Given the description of an element on the screen output the (x, y) to click on. 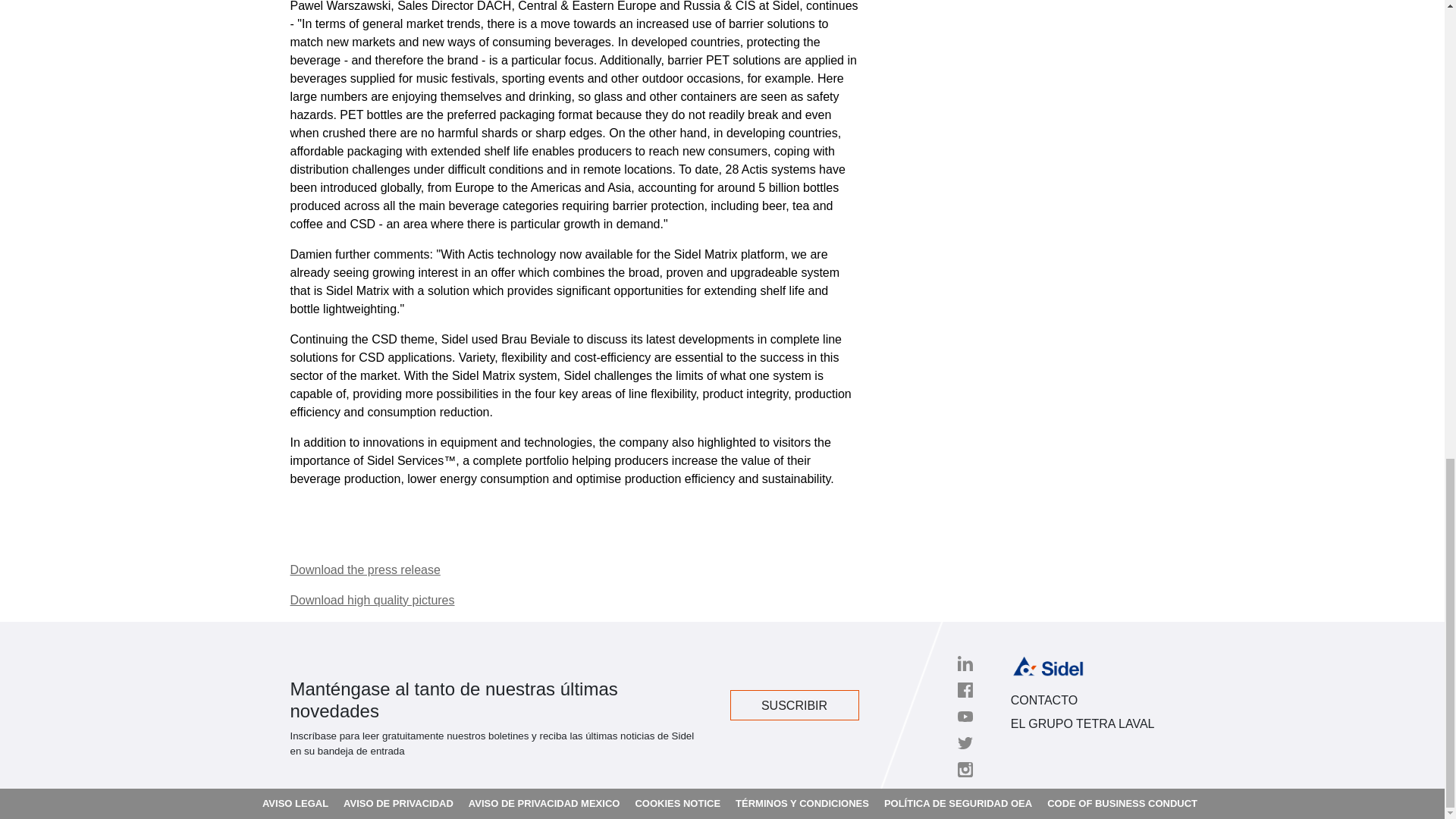
Twitter (965, 743)
LinkedIn (965, 663)
Brau Beviale 2016 post event (371, 599)
YouTube (965, 716)
Instagram (965, 769)
Facebook (965, 689)
Brau Beviale post-event press release (364, 569)
